Given the description of an element on the screen output the (x, y) to click on. 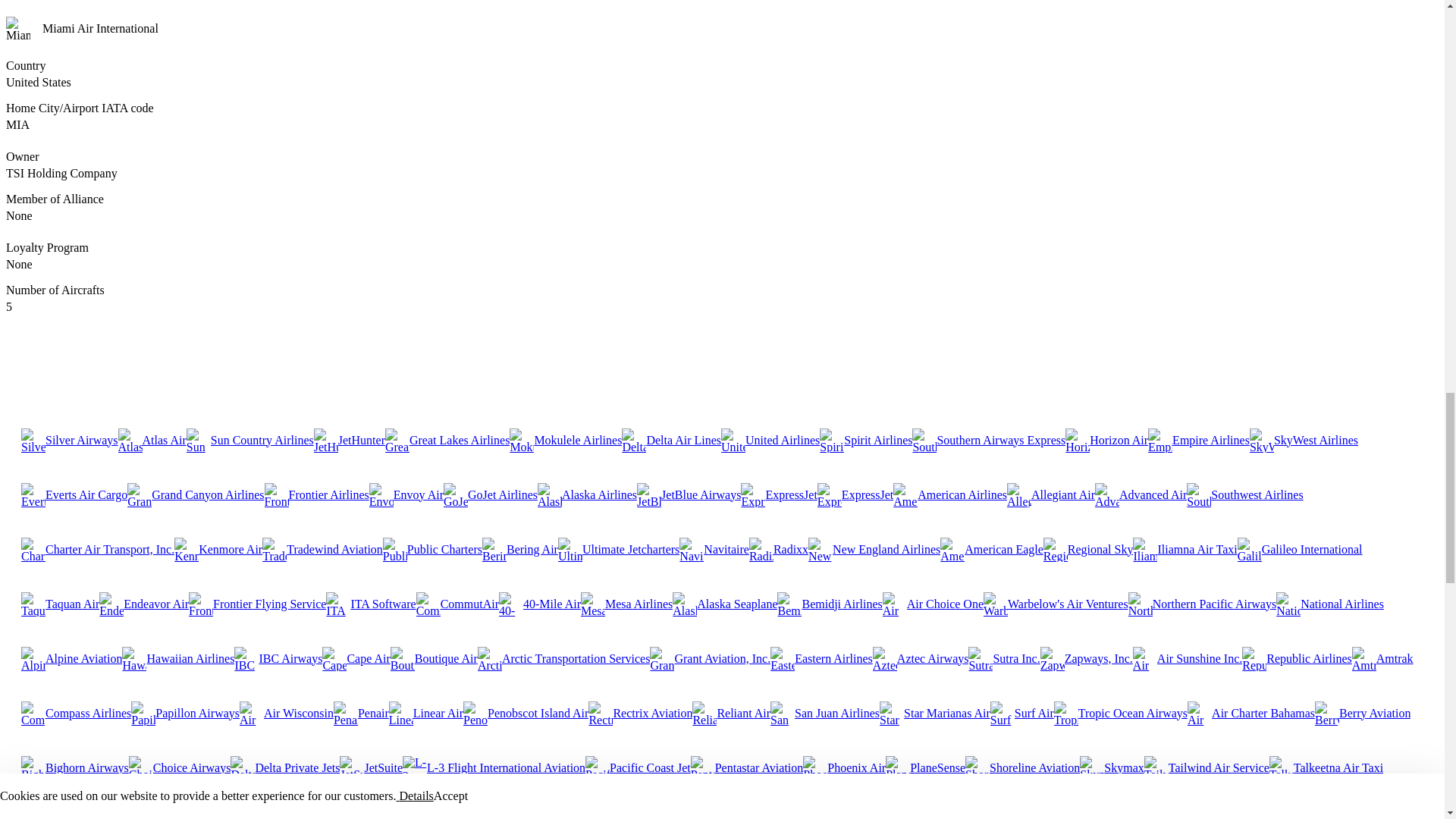
Mokulele Airlines Flights (565, 440)
Atlas Air Flights (151, 440)
Delta Air Lines Flights (670, 440)
Horizon Air Flights (1106, 440)
SkyWest Airlines Flights (1303, 440)
Everts Air Cargo Flights (74, 494)
United Airlines Flights (769, 440)
Silver Airways Flights (69, 440)
Grand Canyon Airlines Flights (195, 494)
Frontier Airlines Flights (316, 494)
JetHunter Flights (349, 440)
Great Lakes Airlines Flights (447, 440)
Envoy Air Flights (406, 494)
Alaska Airlines Flights (587, 494)
Southern Airways Express Flights (988, 440)
